Given the description of an element on the screen output the (x, y) to click on. 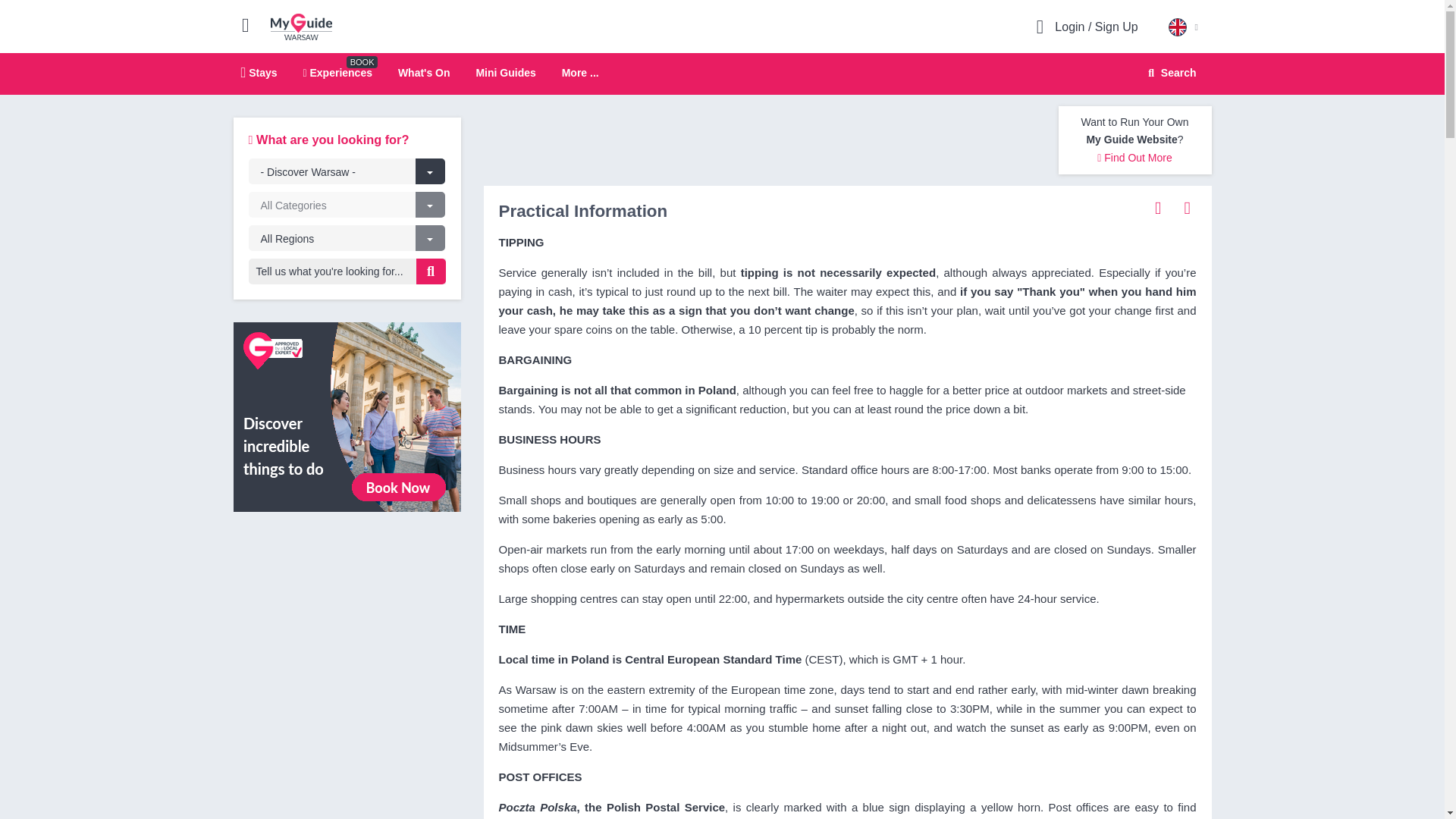
Search (1169, 72)
Share with Friends (1157, 207)
Mini Guides (505, 72)
View All Experiences (346, 415)
My Guide Warsaw (300, 25)
Search Website (1170, 73)
More ... (580, 72)
Stays (259, 72)
Experiences (337, 72)
What's On (423, 72)
